Given the description of an element on the screen output the (x, y) to click on. 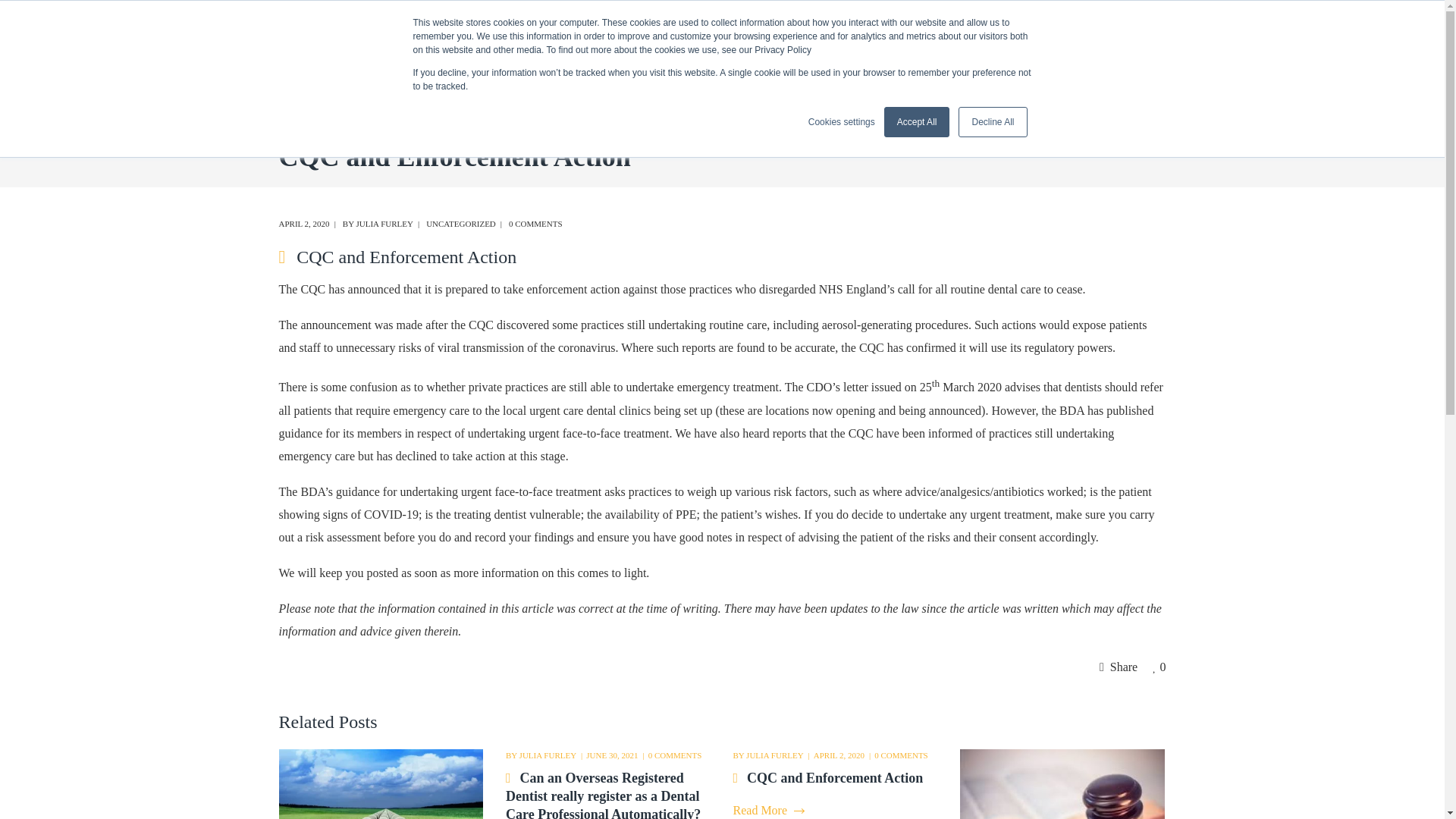
Decline All (992, 122)
Accept All (916, 122)
Cookies settings (841, 121)
